Given the description of an element on the screen output the (x, y) to click on. 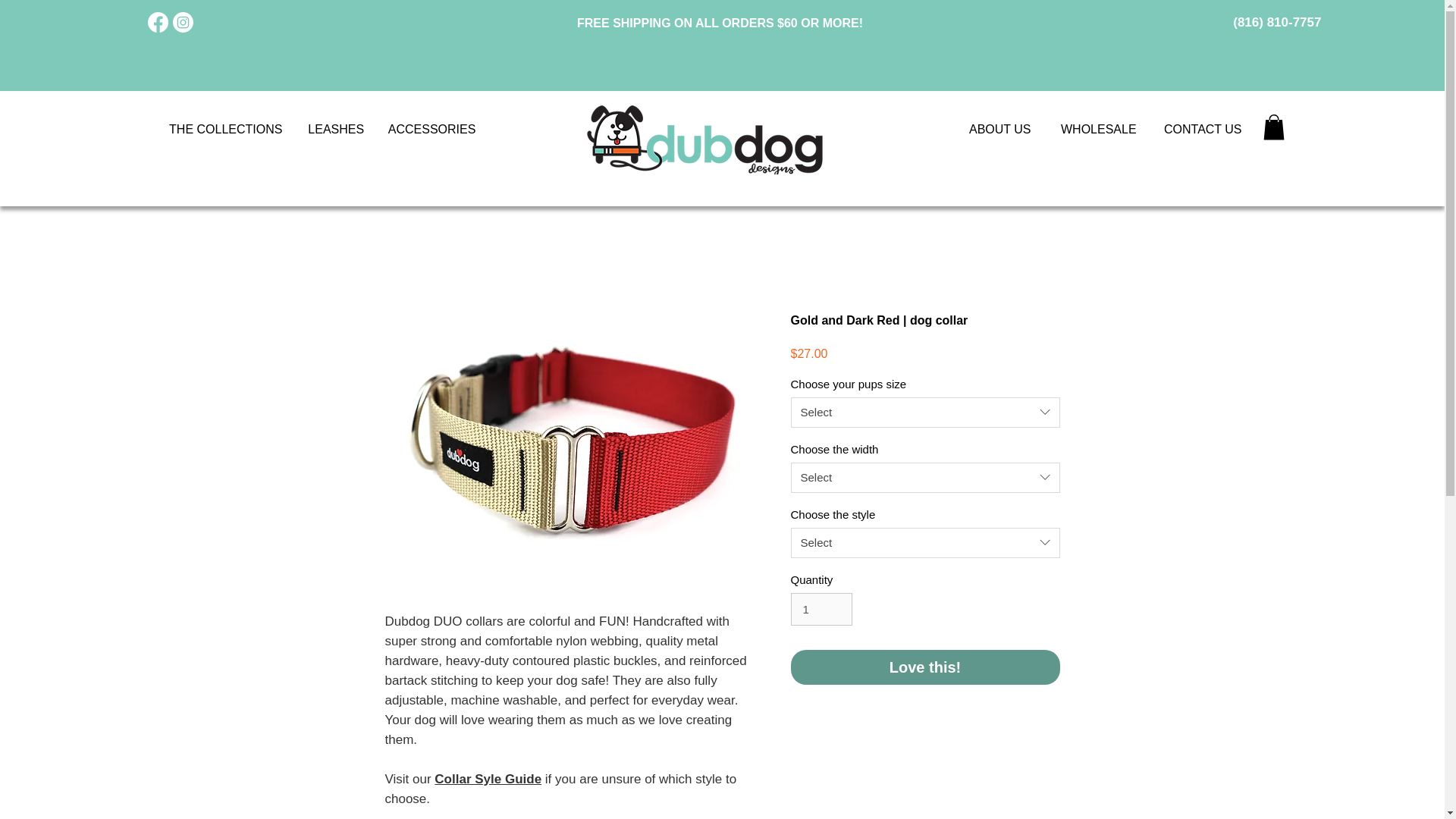
CONTACT US (1204, 129)
Select (924, 412)
1 (820, 609)
ABOUT US (1005, 129)
Select (924, 477)
Love this! (924, 667)
Select (924, 542)
WHOLESALE (1101, 129)
Collar Syle Guide (487, 779)
LEASHES (336, 129)
